Given the description of an element on the screen output the (x, y) to click on. 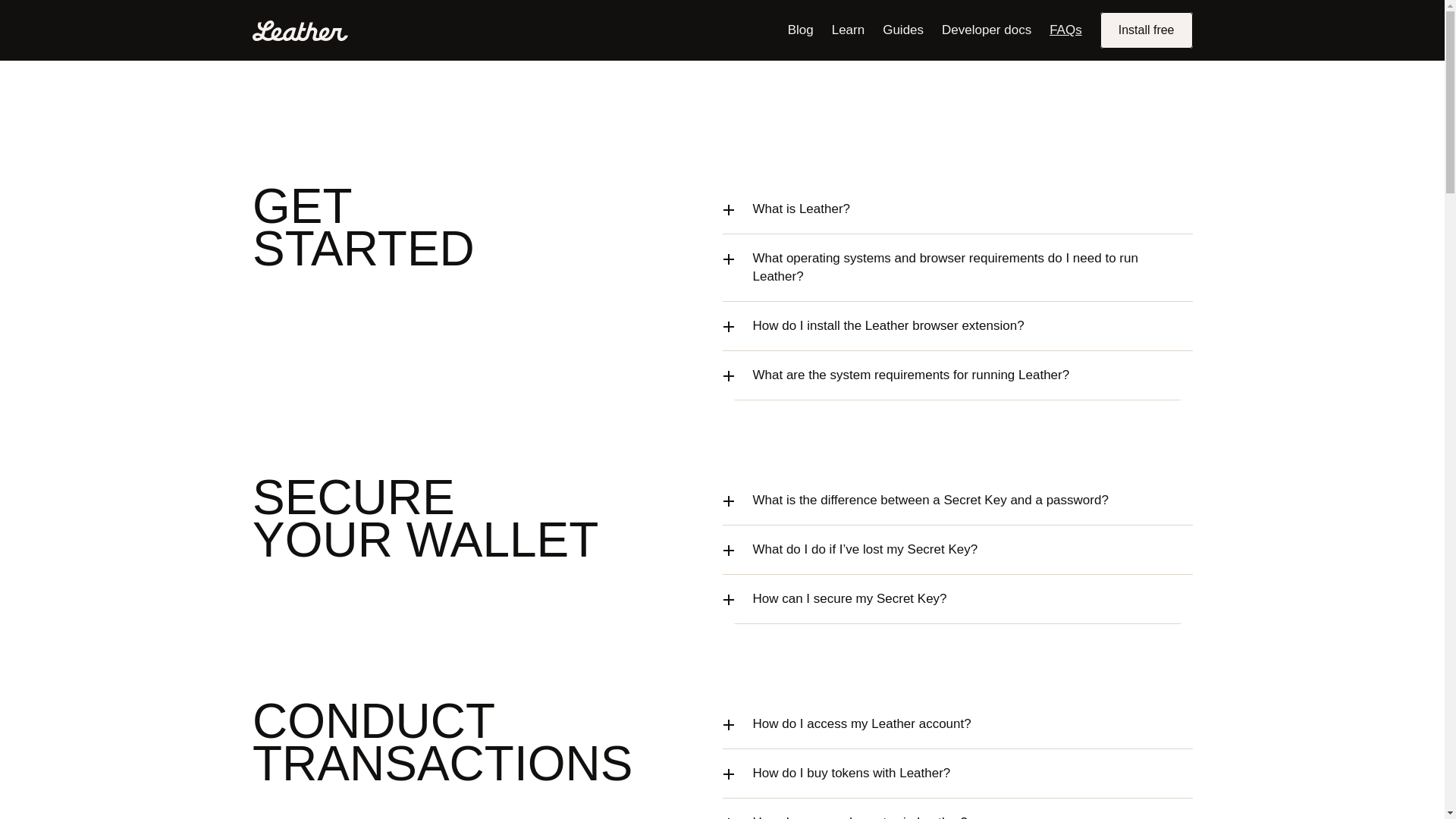
Learn (847, 29)
Blog (800, 29)
Guides (902, 29)
FAQs (1065, 29)
Install free (1146, 30)
Developer docs (986, 29)
